Given the description of an element on the screen output the (x, y) to click on. 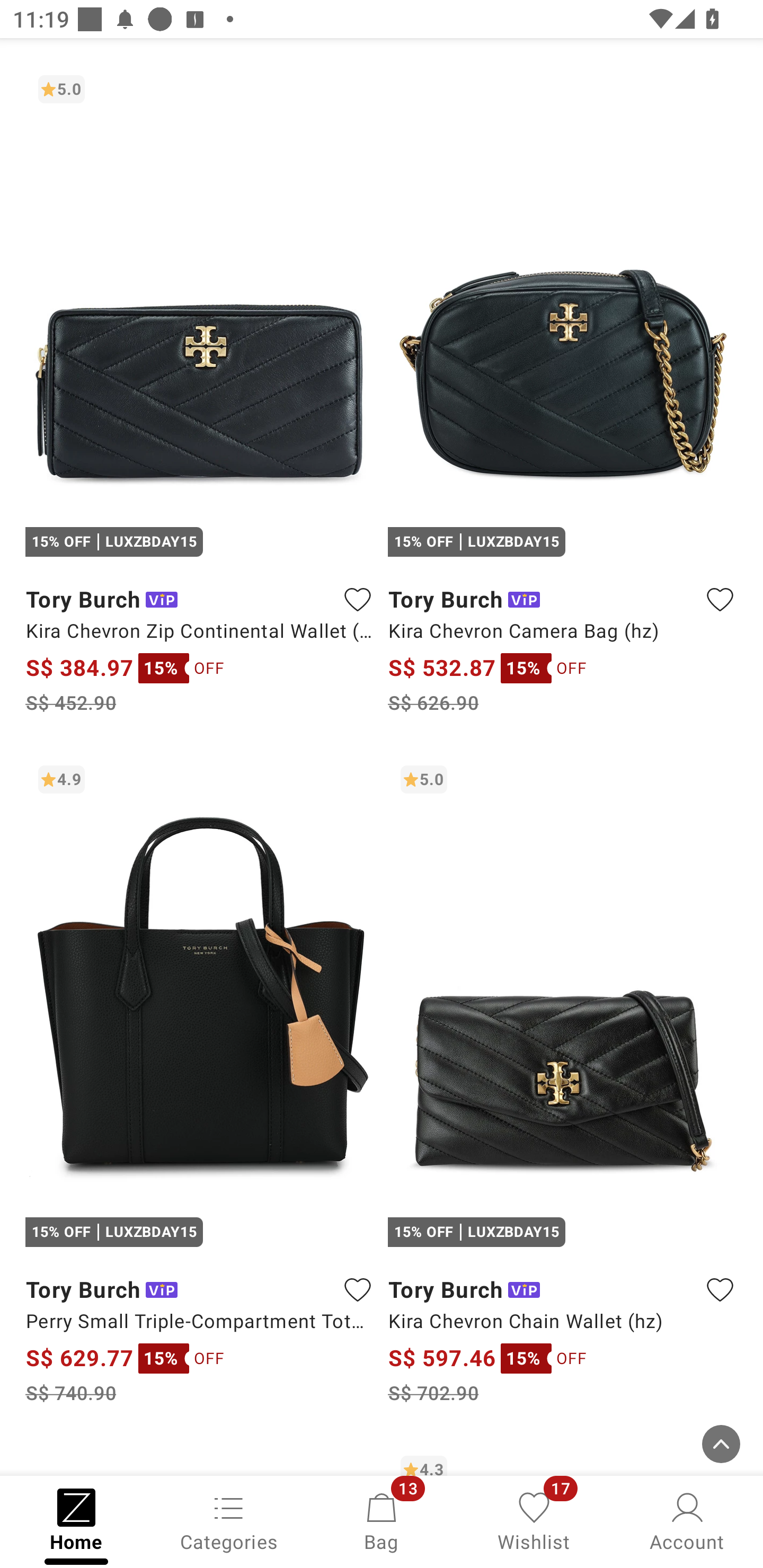
Categories (228, 1519)
Bag, 13 new notifications Bag (381, 1519)
Wishlist, 17 new notifications Wishlist (533, 1519)
Account (686, 1519)
